Given the description of an element on the screen output the (x, y) to click on. 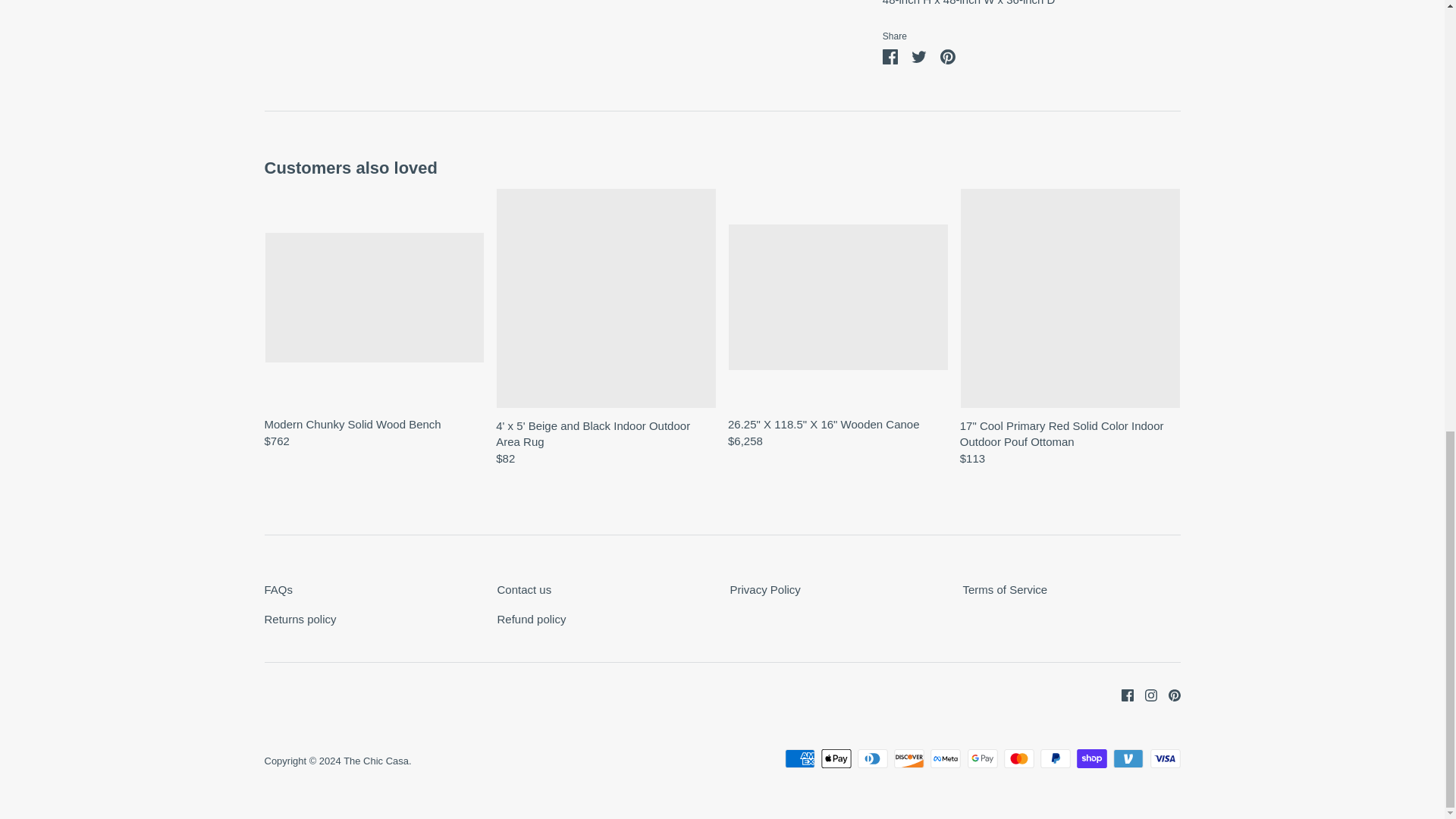
Diners Club (872, 758)
PayPal (1055, 758)
Apple Pay (836, 758)
Discover (908, 758)
Google Pay (982, 758)
American Express (799, 758)
Meta Pay (945, 758)
Mastercard (1018, 758)
